Given the description of an element on the screen output the (x, y) to click on. 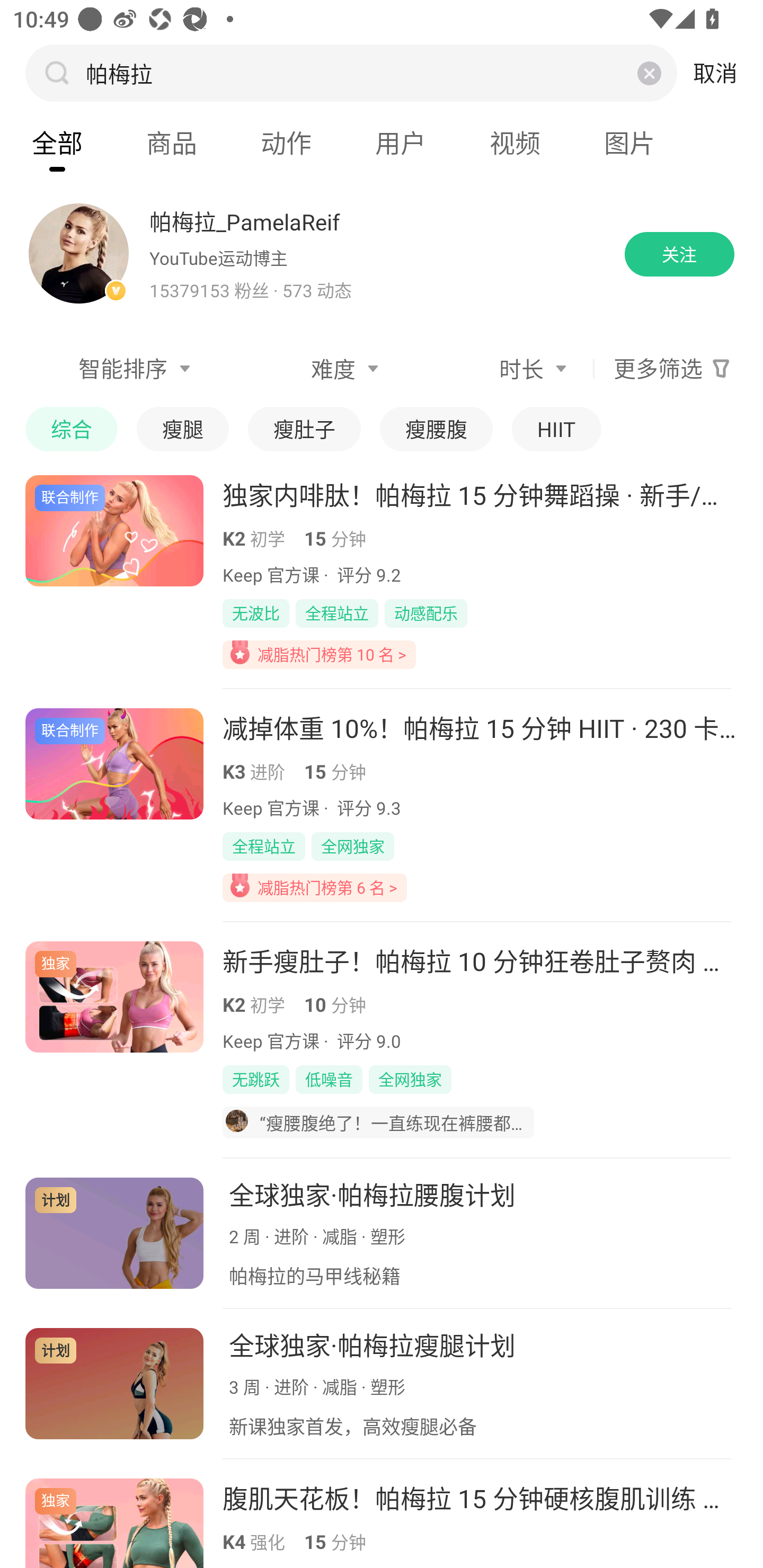
帕梅拉 EditSearch (349, 72)
取消 (714, 72)
全部 (57, 143)
商品 (171, 143)
动作 (285, 143)
用户 (400, 143)
视频 (514, 143)
图片 (629, 143)
帕梅拉_PamelaReif YouTube运动博主 关注 15379153 粉丝 · 573 动态 (381, 254)
关注 (679, 253)
智能排序 (111, 368)
综合 (71, 428)
瘦腿 (182, 428)
瘦肚子 (303, 428)
瘦腰腹 (435, 428)
HIIT (556, 428)
减脂热门榜第 10 名 > (318, 654)
减脂热门榜第 6 名 > (314, 887)
计划 全球独家·帕梅拉腰腹计划 2 周 · 进阶 · 减脂 · 塑形 帕梅拉的马甲线秘籍 (381, 1232)
计划 全球独家·帕梅拉瘦腿计划 3 周 · 进阶 · 减脂 · 塑形 新课独家首发，高效瘦腿必备 (381, 1383)
